Given the description of an element on the screen output the (x, y) to click on. 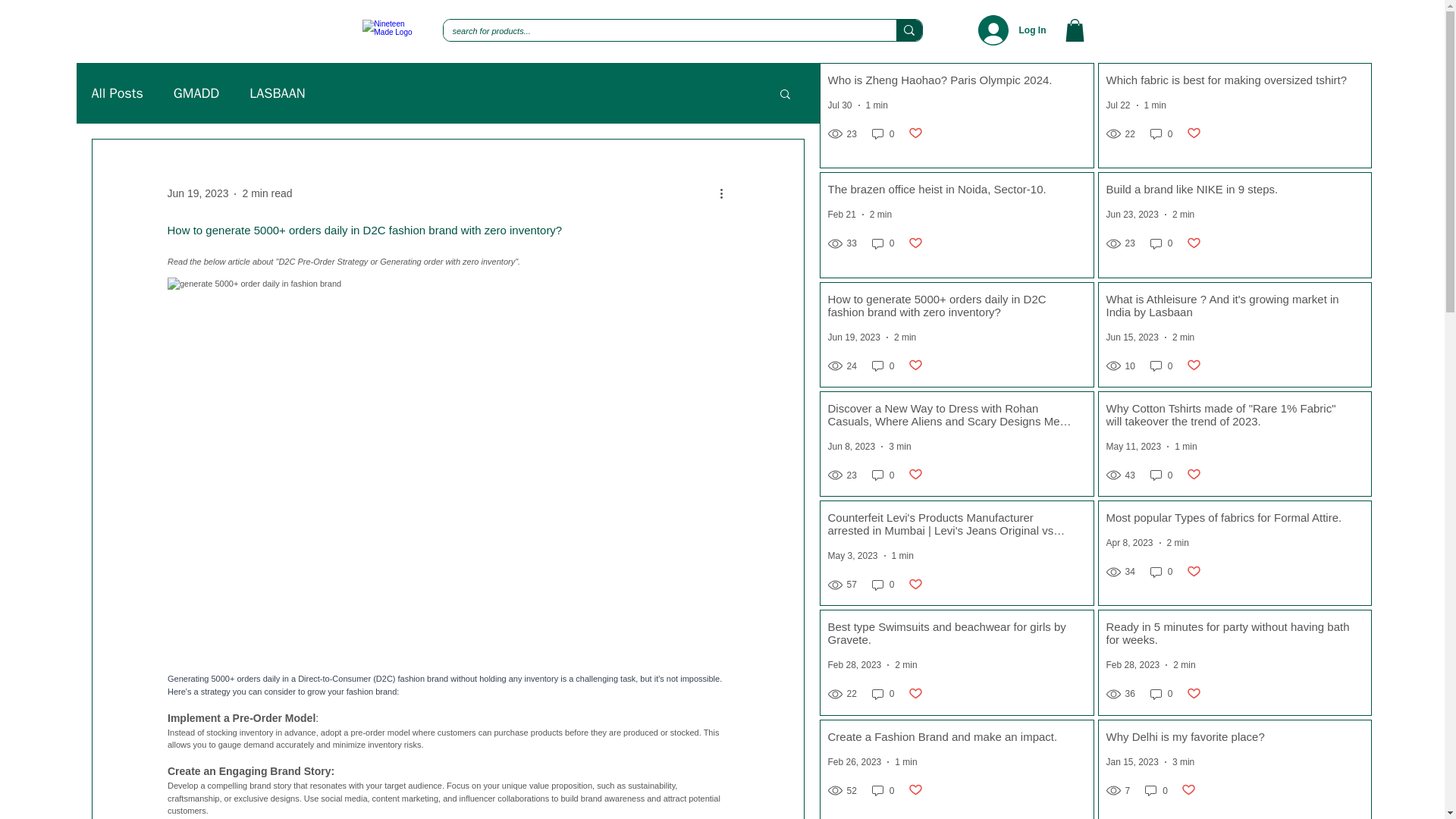
0 (1161, 243)
Post not marked as liked (1193, 133)
2 min read (266, 193)
Post not marked as liked (915, 133)
Jul 30 (839, 104)
2 min (1182, 214)
Which fabric is best for making oversized tshirt? (1229, 82)
0 (883, 133)
3 min (899, 446)
